Given the description of an element on the screen output the (x, y) to click on. 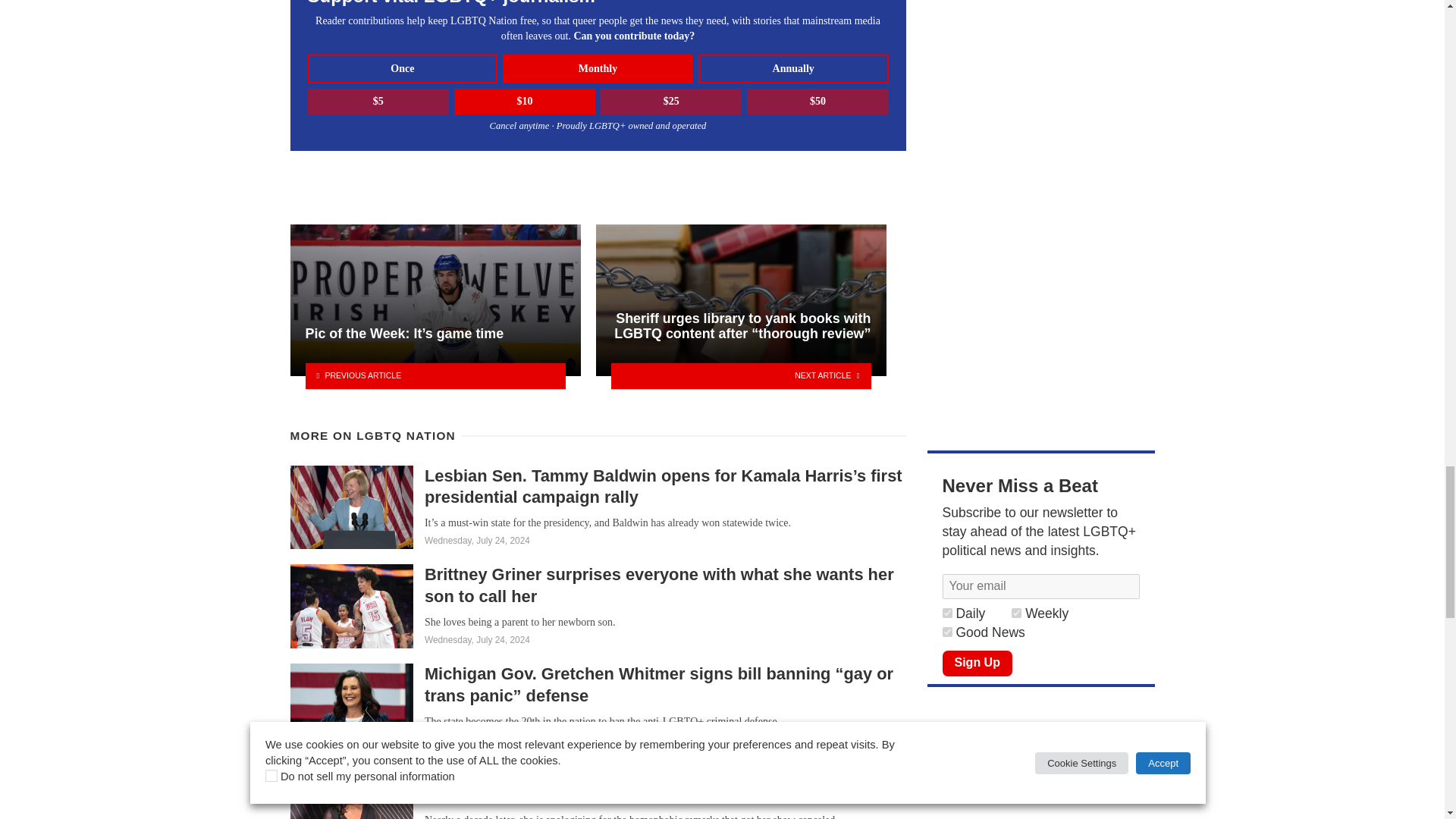
1920883 (947, 632)
Sign Up (976, 663)
1920885 (947, 613)
1920884 (1016, 613)
